Given the description of an element on the screen output the (x, y) to click on. 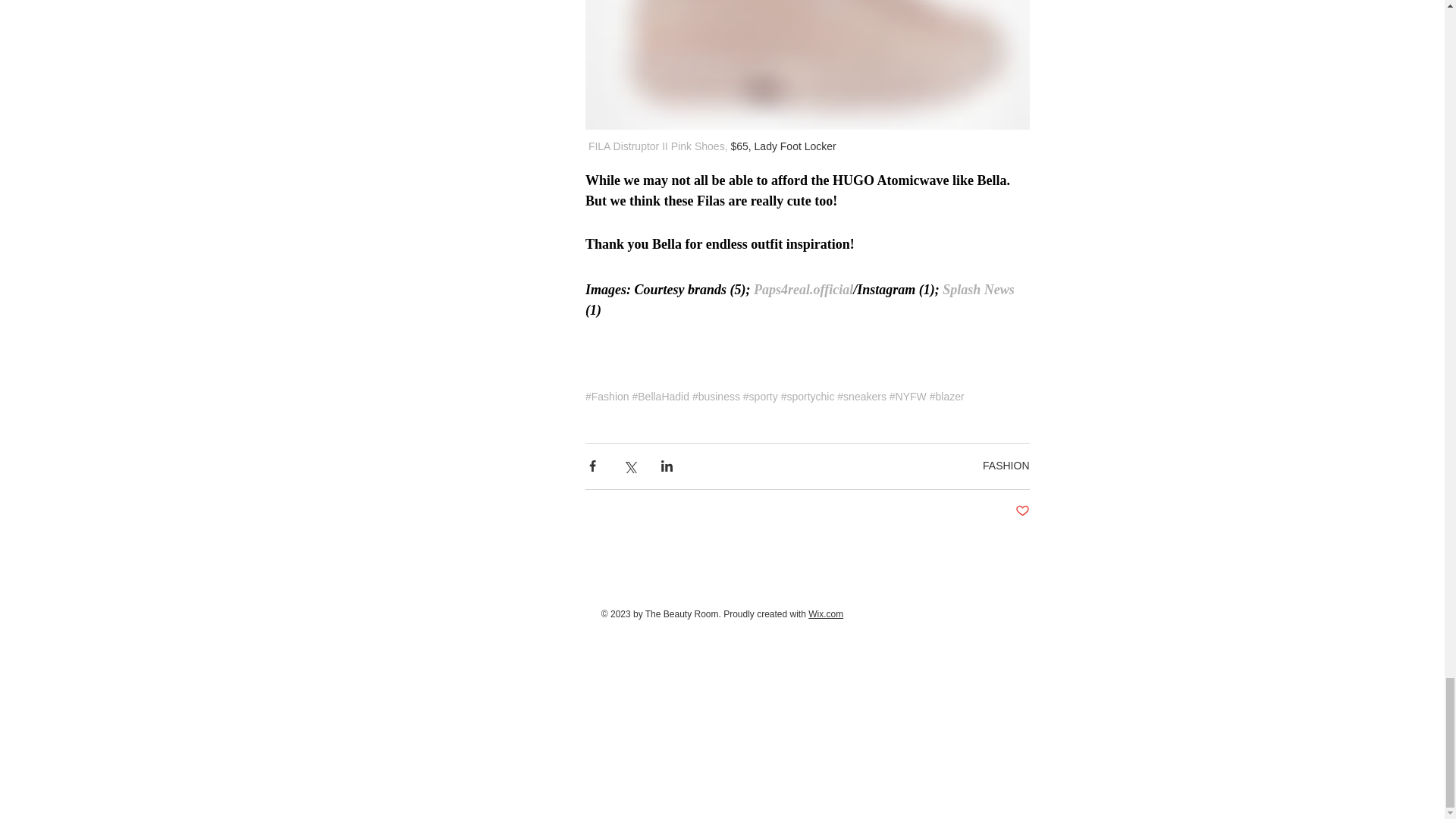
Wix.com (825, 614)
 FILA Distruptor II Pink Shoes, (656, 146)
Paps4real.official (803, 289)
Post not marked as liked (1021, 511)
FASHION (1005, 465)
 Splash News (976, 289)
